Given the description of an element on the screen output the (x, y) to click on. 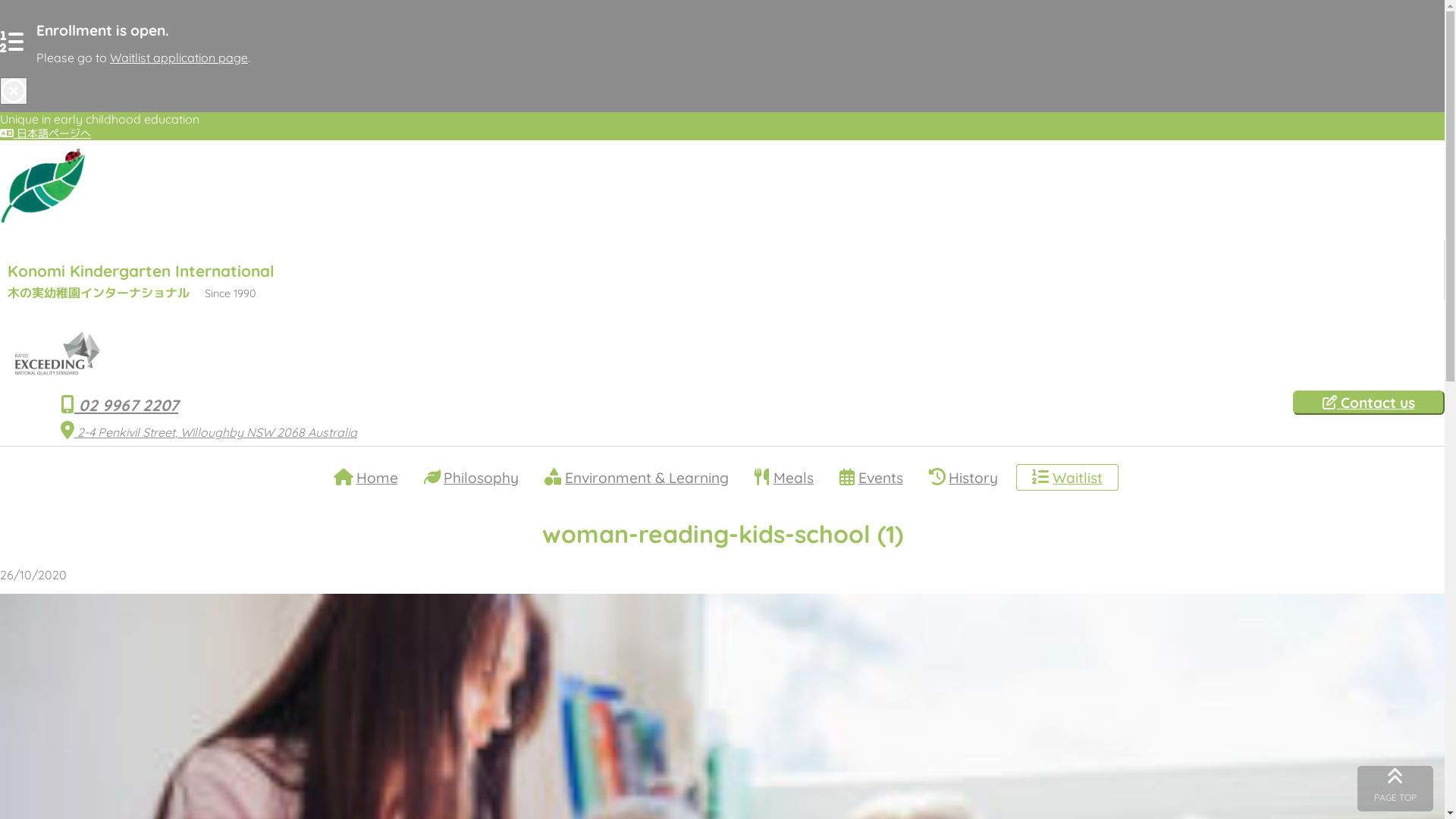
Waitlist Element type: text (1067, 477)
Waitlist application page Element type: text (178, 57)
Meals Element type: text (783, 477)
Environment & Learning Element type: text (636, 477)
02 9967 2207 Element type: text (119, 404)
Home Element type: text (365, 477)
Philosophy Element type: text (470, 477)
Events Element type: text (871, 477)
Contact us Element type: text (1368, 402)
Contact us Element type: text (1368, 402)
History Element type: text (963, 477)
2-4 Penkivil Street, Willoughby NSW 2068 Australia Element type: text (208, 431)
